Given the description of an element on the screen output the (x, y) to click on. 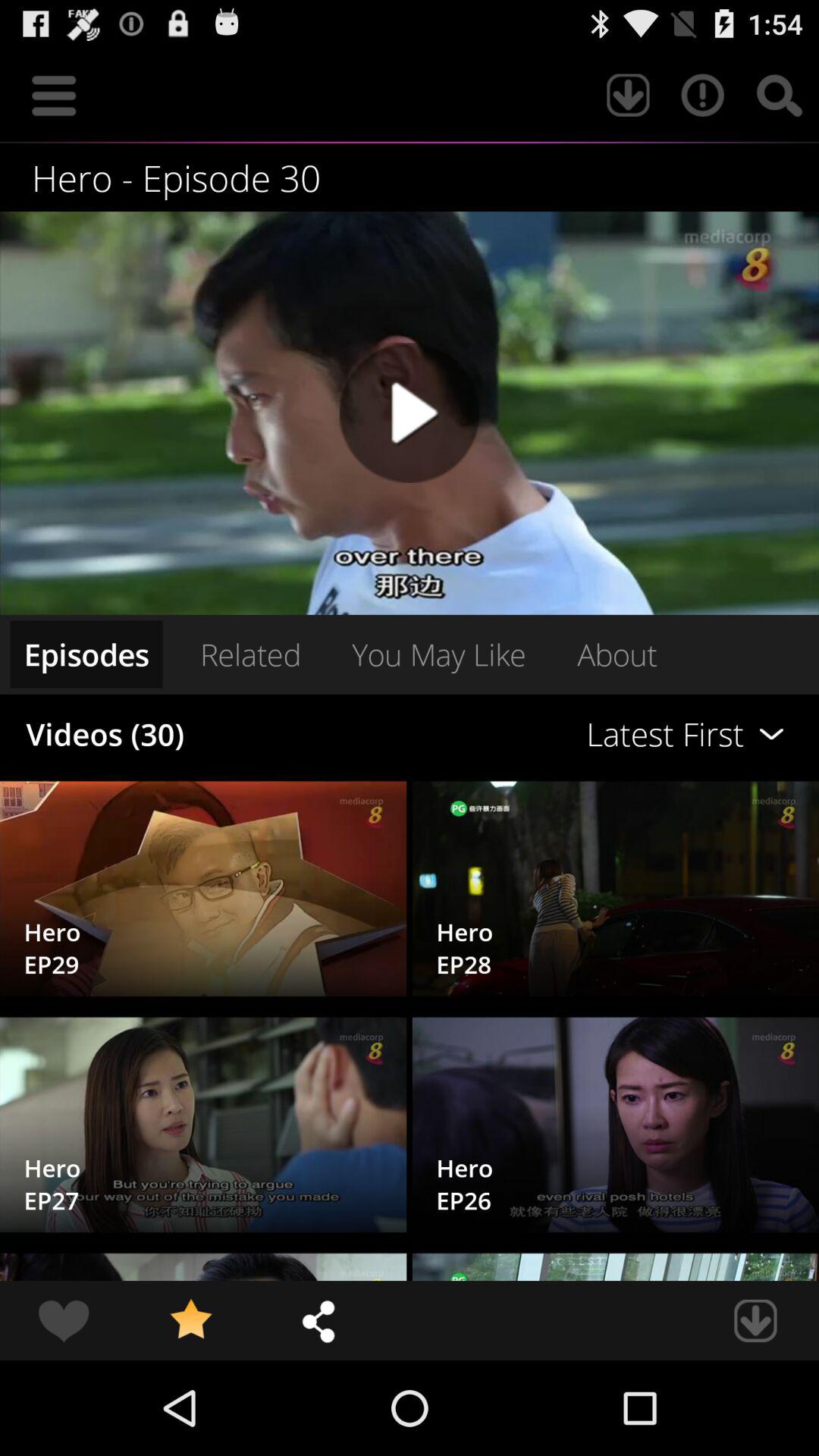
choose item at the bottom (318, 1320)
